Given the description of an element on the screen output the (x, y) to click on. 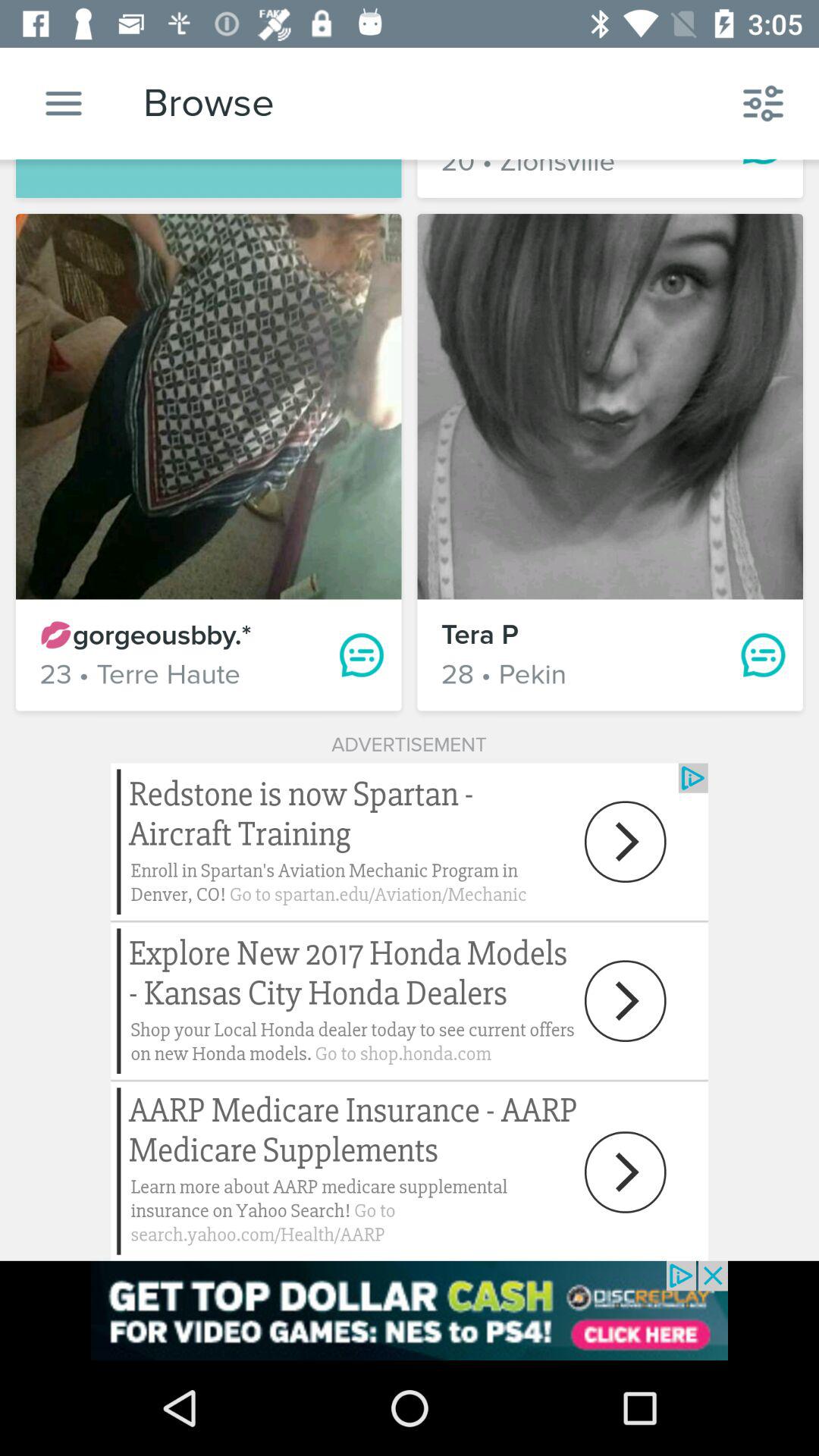
view advertisements (409, 1310)
